Given the description of an element on the screen output the (x, y) to click on. 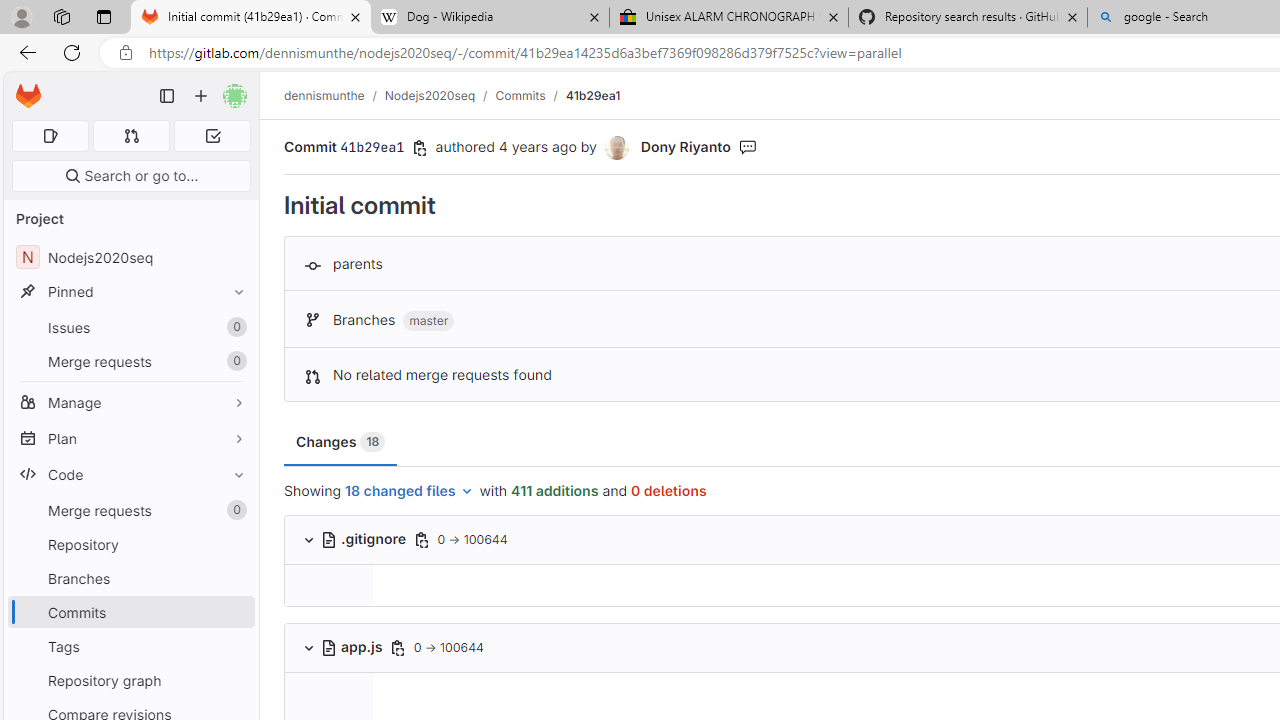
.gitignore  (364, 538)
dennismunthe/ (334, 95)
Pin Repository graph (234, 680)
Skip to main content (23, 87)
Issues 0 (130, 327)
Merge requests 0 (130, 510)
N Nodejs2020seq (130, 257)
Merge requests 0 (131, 136)
Branches (130, 578)
Commits/ (530, 95)
Pin Repository (234, 544)
Create new... (201, 96)
Pin Commits (234, 611)
